Given the description of an element on the screen output the (x, y) to click on. 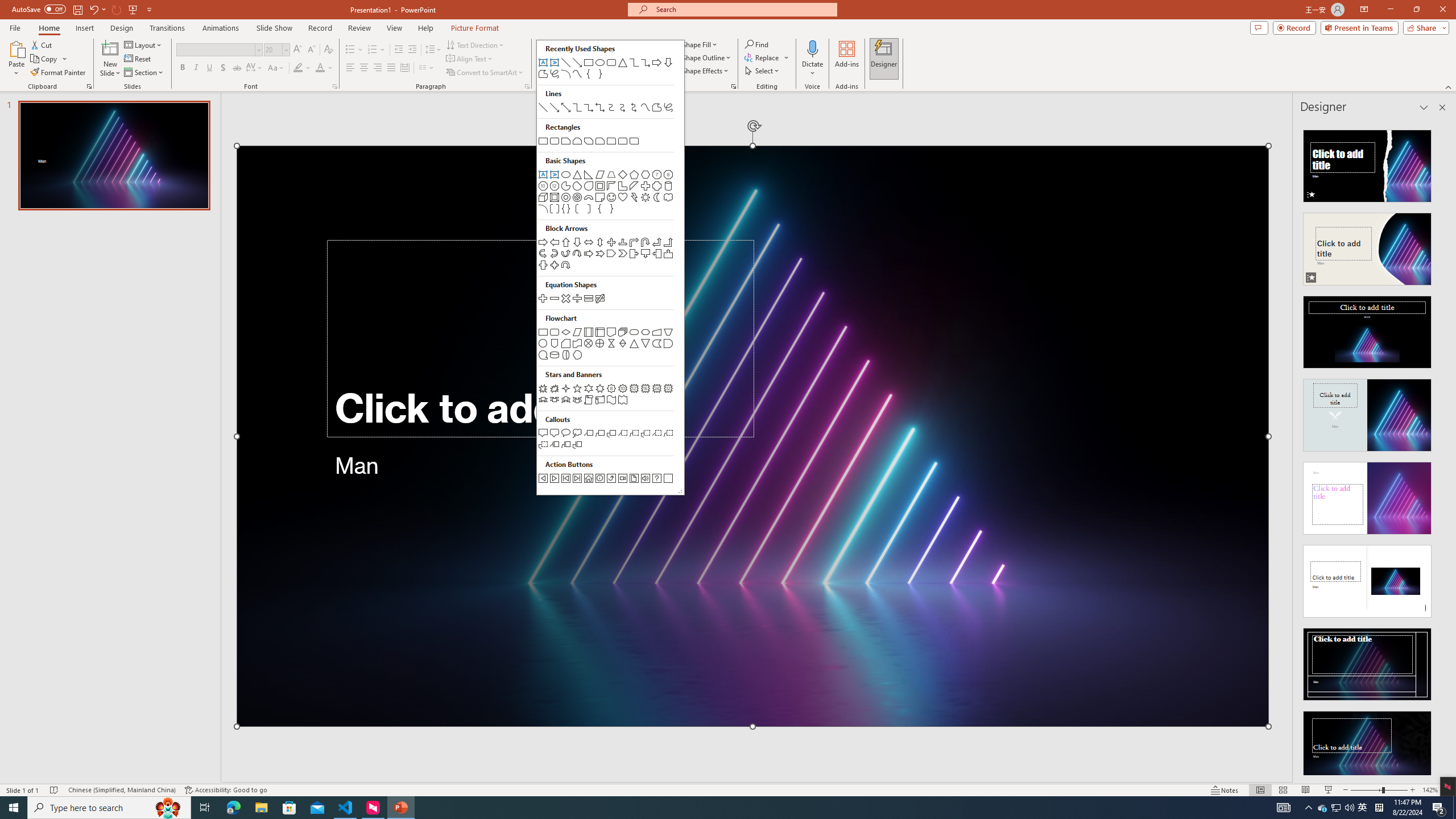
Normal (1260, 790)
Visual Studio Code - 1 running window (345, 807)
Font (215, 49)
Design Idea with Animation (1366, 245)
Bullets (354, 49)
Type here to search (108, 807)
Open (285, 49)
Share (1423, 27)
Replace... (762, 56)
Center (363, 67)
Tray Input Indicator - Chinese (Simplified, China) (1378, 807)
Start (1362, 807)
Section (13, 807)
New Slide (144, 72)
